Given the description of an element on the screen output the (x, y) to click on. 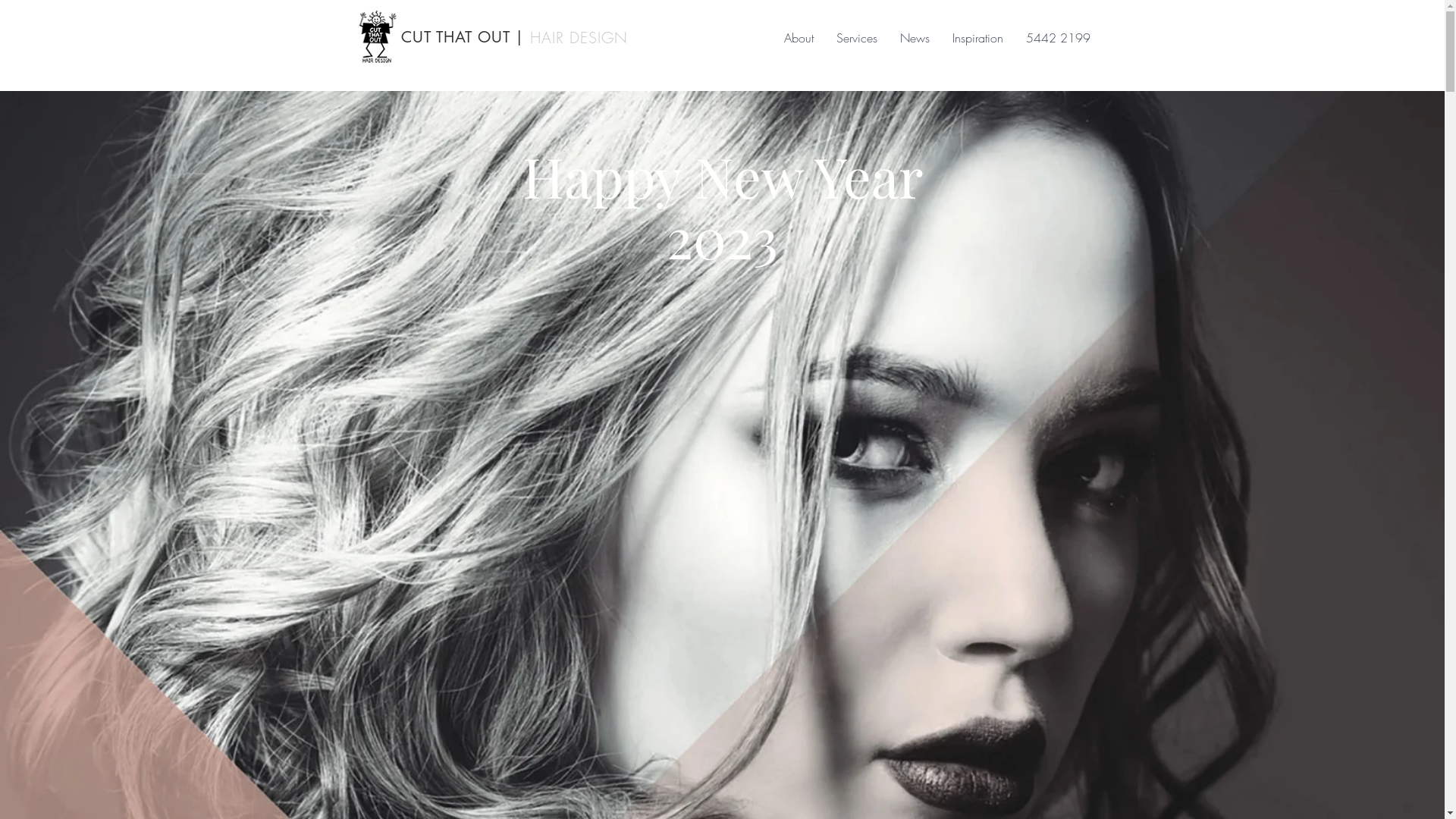
Inspiration Element type: text (976, 37)
HAIR DESIGN Element type: text (578, 37)
News Element type: text (914, 37)
About Element type: text (797, 37)
Services Element type: text (856, 37)
5442 2199 Element type: text (1057, 37)
CUT THAT OUT | Element type: text (461, 37)
